Given the description of an element on the screen output the (x, y) to click on. 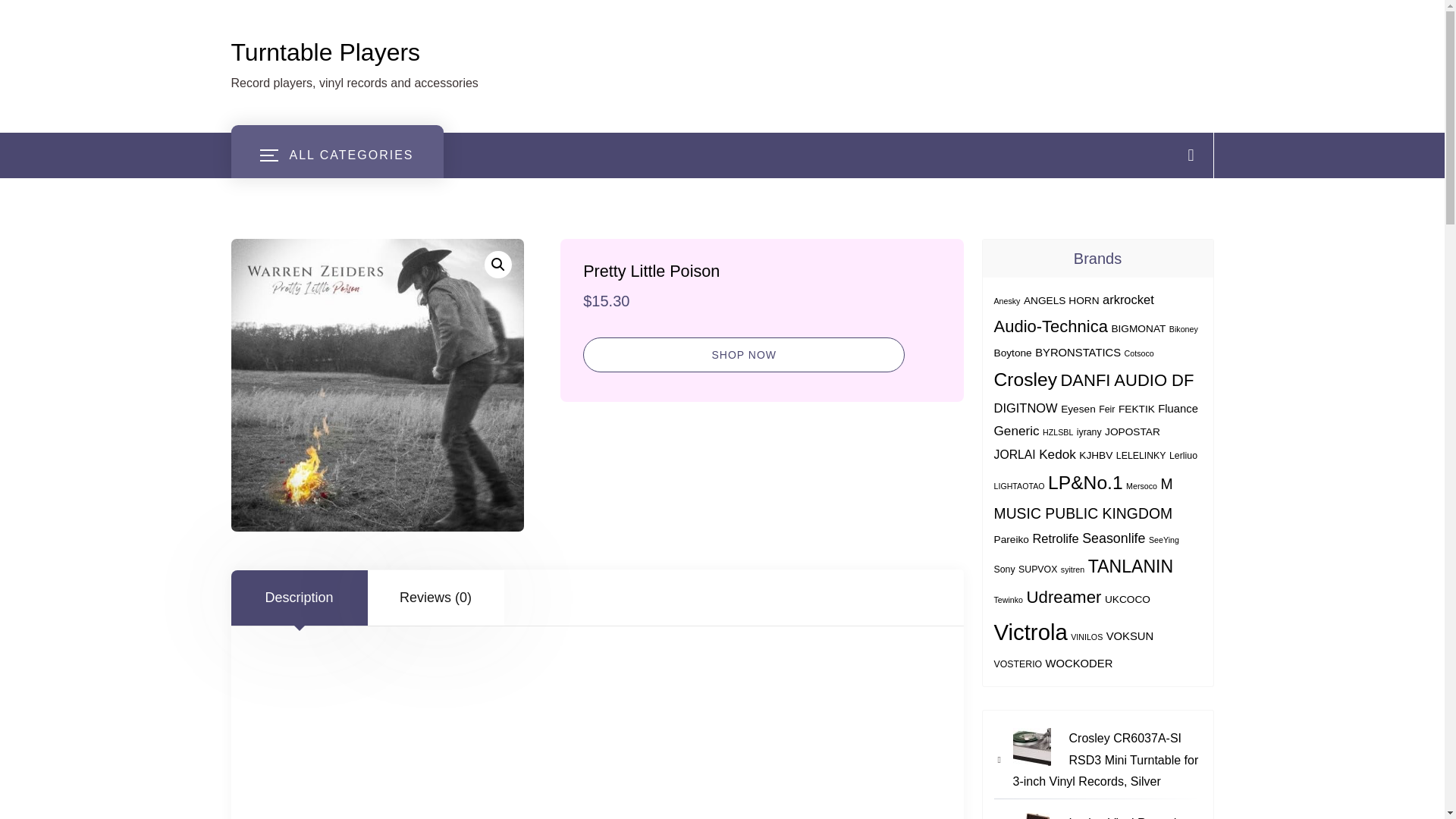
Description (298, 597)
Pretty Little Poison (376, 385)
SHOP NOW (743, 354)
Turntable Players (325, 52)
ALL CATEGORIES (336, 155)
